Given the description of an element on the screen output the (x, y) to click on. 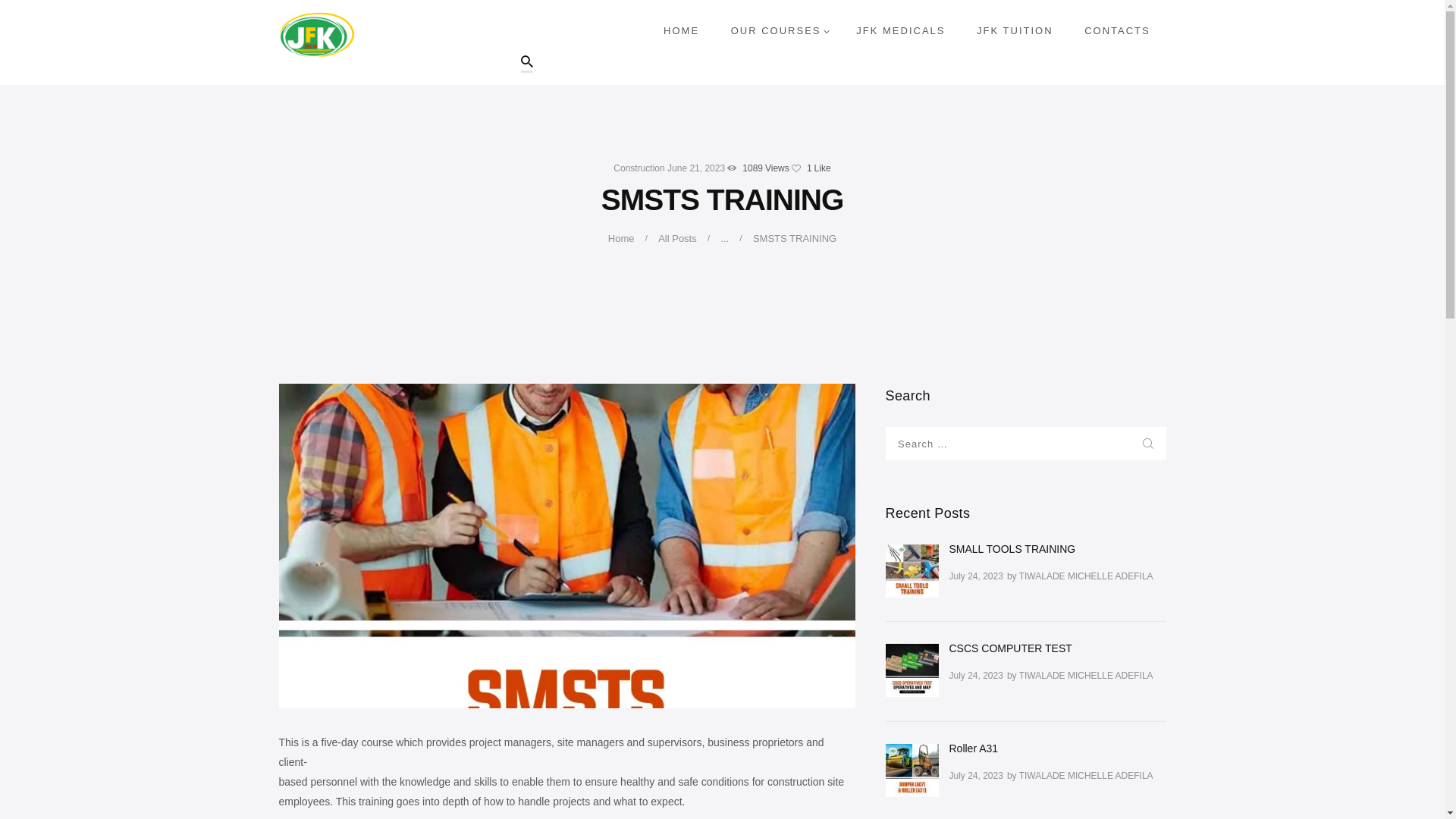
June 21, 2023 (695, 167)
JFK TUITION (1014, 30)
Search (1149, 443)
All Posts (677, 238)
Construction (637, 167)
JFK MEDICALS (900, 30)
OUR COURSES (777, 30)
Like (811, 167)
1Like (811, 167)
CONTACTS (1117, 30)
HOME (680, 30)
Search (1149, 443)
Home (621, 237)
1089Views (757, 167)
